Given the description of an element on the screen output the (x, y) to click on. 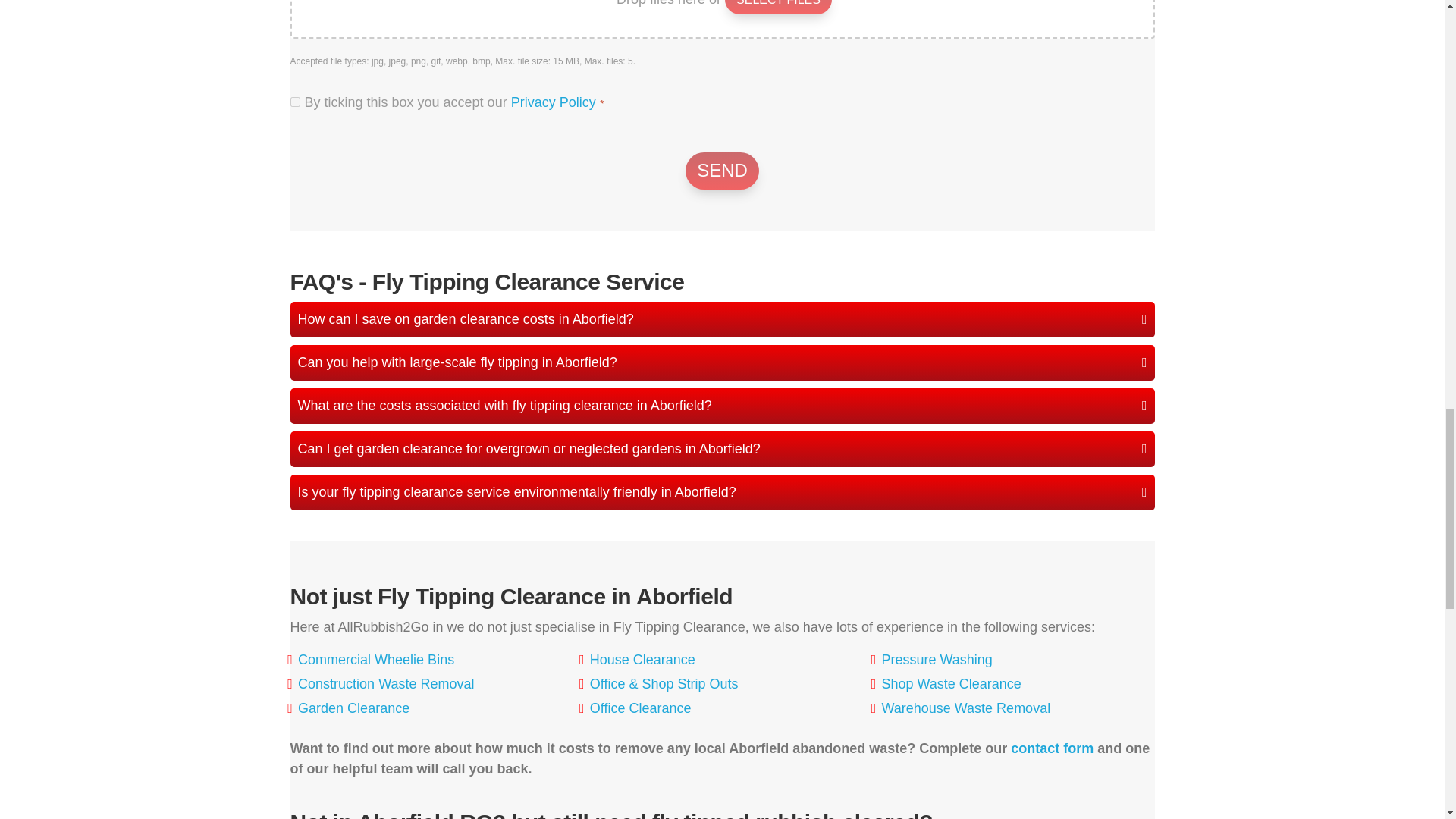
SELECT FILES (778, 7)
Send (721, 170)
How can I save on garden clearance costs in Aborfield? (721, 319)
Privacy Policy (553, 102)
1 (294, 102)
Send (721, 170)
